Given the description of an element on the screen output the (x, y) to click on. 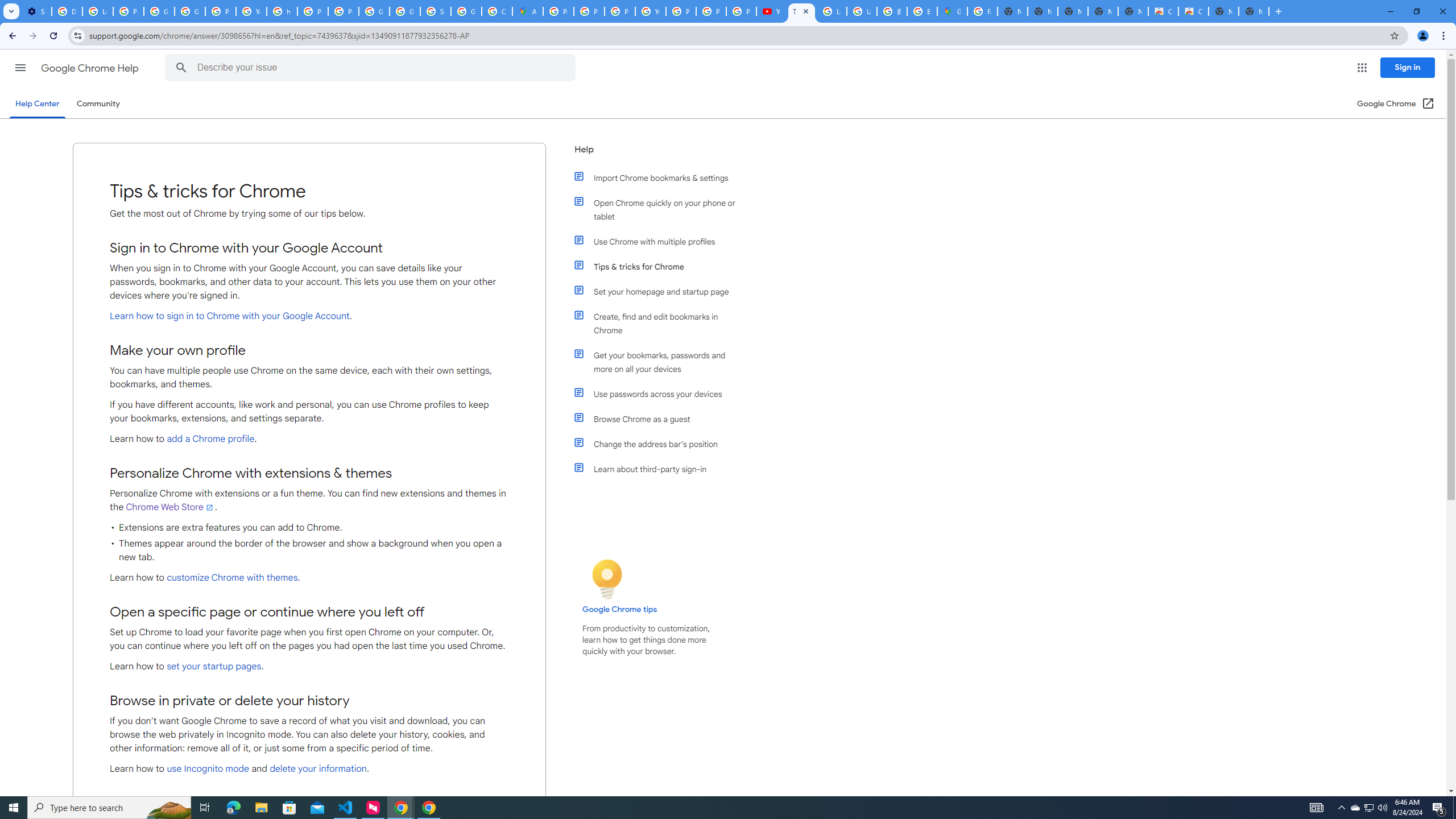
Privacy Checkup (710, 11)
Google Chrome tips (620, 609)
Settings - On startup (36, 11)
Privacy Help Center - Policies Help (589, 11)
Import Chrome bookmarks & settings (661, 177)
Delete photos & videos - Computer - Google Photos Help (66, 11)
Chrome Web Store (170, 506)
use Incognito mode (206, 768)
Create your Google Account (496, 11)
